Given the description of an element on the screen output the (x, y) to click on. 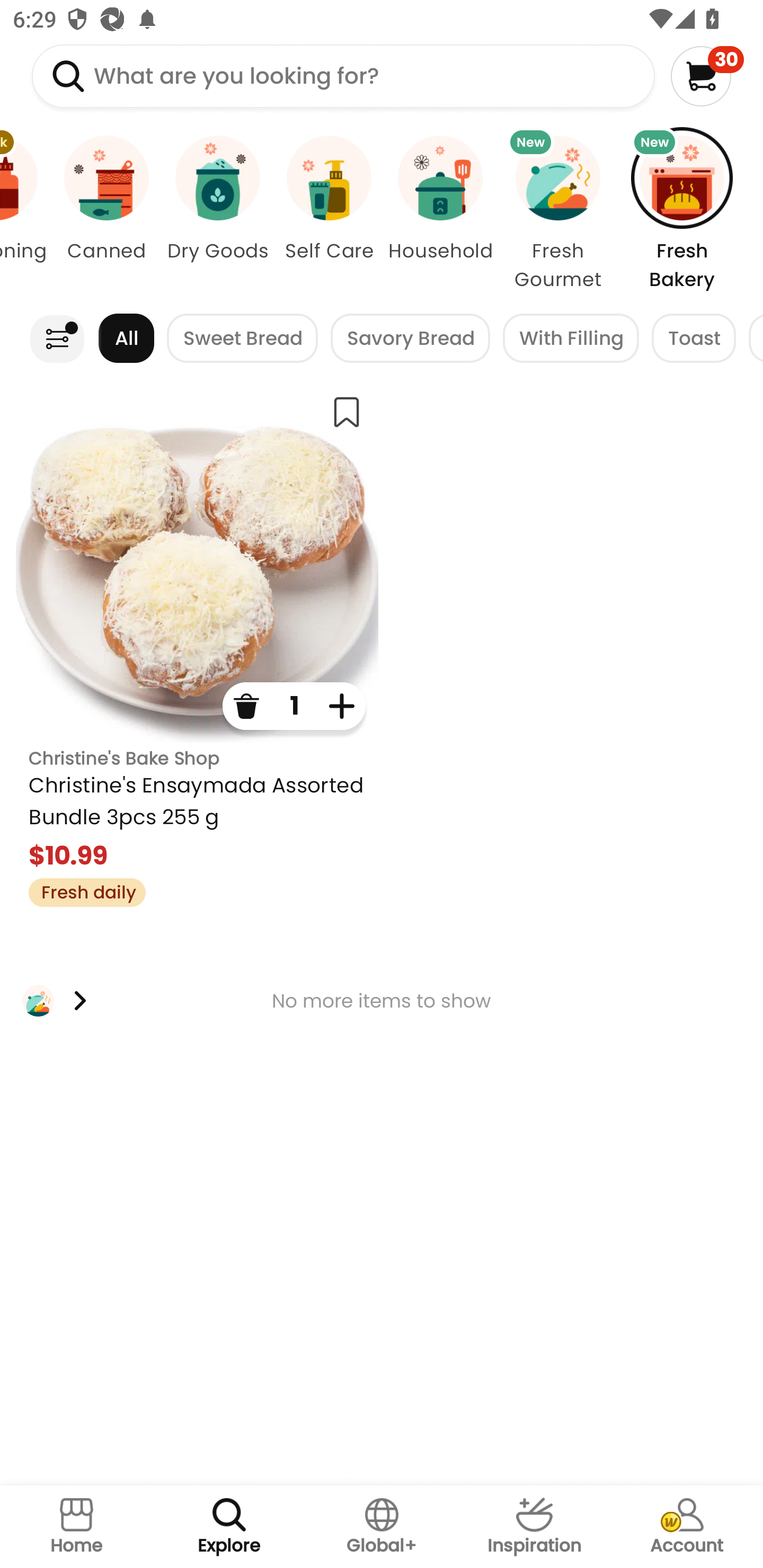
What are you looking for? (343, 75)
30 (706, 75)
5% back Seasoning (25, 214)
Canned (106, 214)
Dry Goods (217, 214)
Self Care (328, 214)
Household (439, 214)
New Fresh Gourmet (557, 214)
New Fresh Bakery (691, 214)
All (126, 337)
Sweet Bread (242, 337)
Savory Bread (409, 337)
With Filling (570, 337)
Toast (693, 337)
Home (76, 1526)
Explore (228, 1526)
Global+ (381, 1526)
Inspiration (533, 1526)
Account (686, 1526)
